Given the description of an element on the screen output the (x, y) to click on. 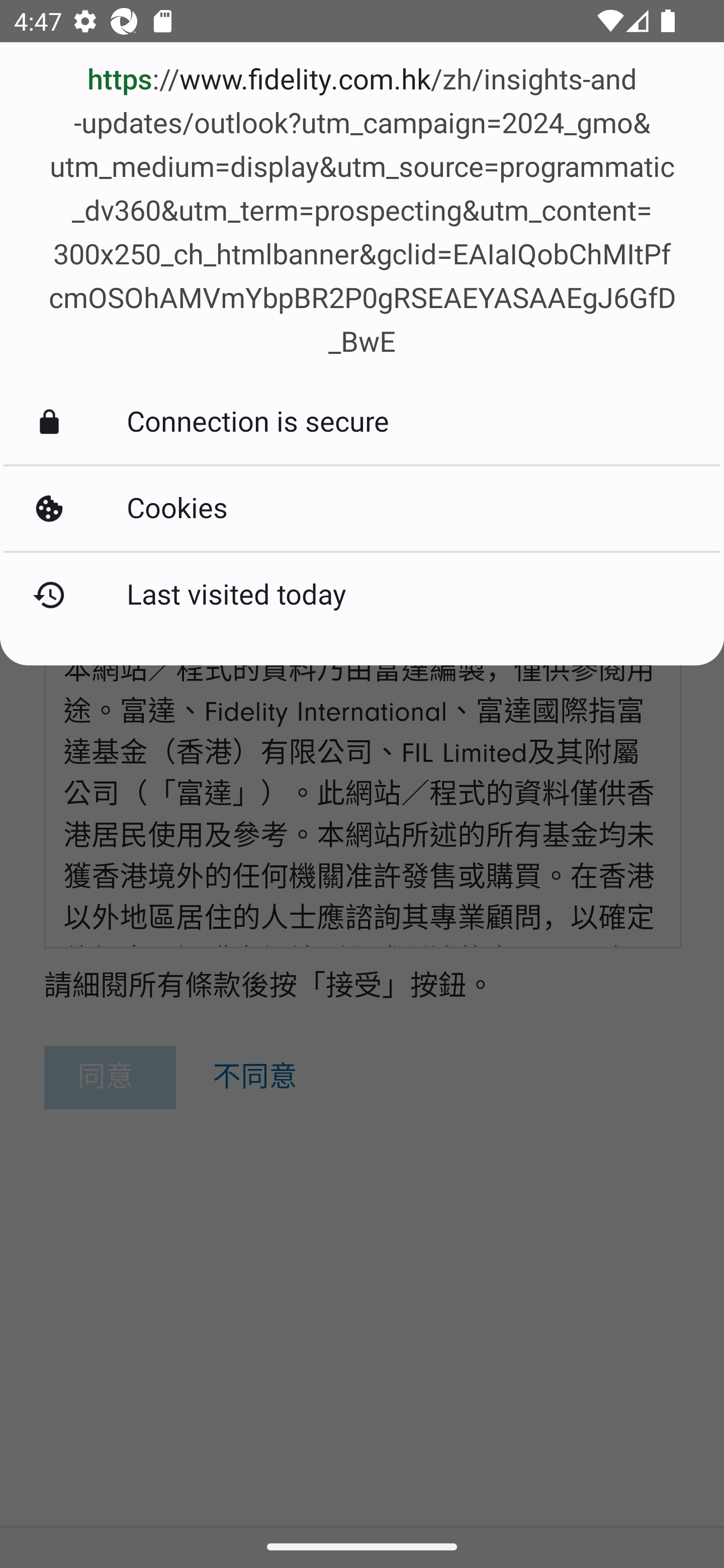
Connection is secure (362, 421)
Cookies (362, 507)
Last visited today (362, 594)
